Given the description of an element on the screen output the (x, y) to click on. 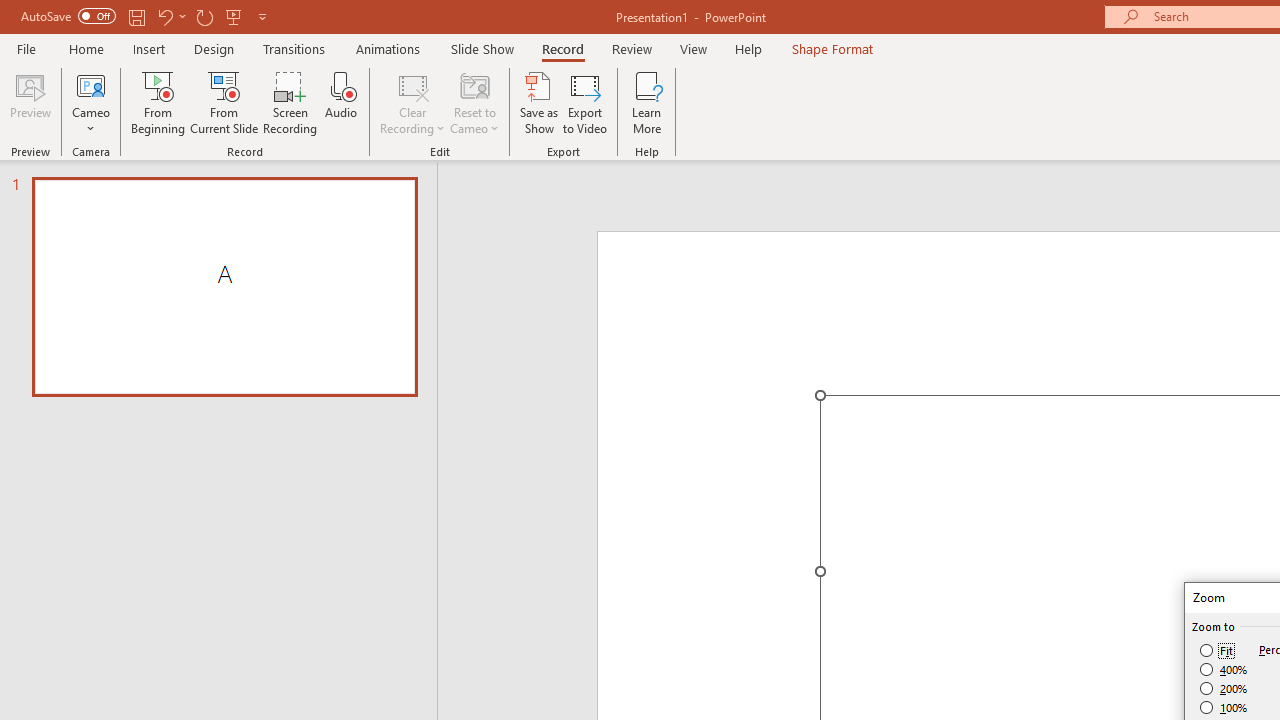
Reset to Cameo (474, 102)
Fit (1217, 650)
Learn More (646, 102)
